Given the description of an element on the screen output the (x, y) to click on. 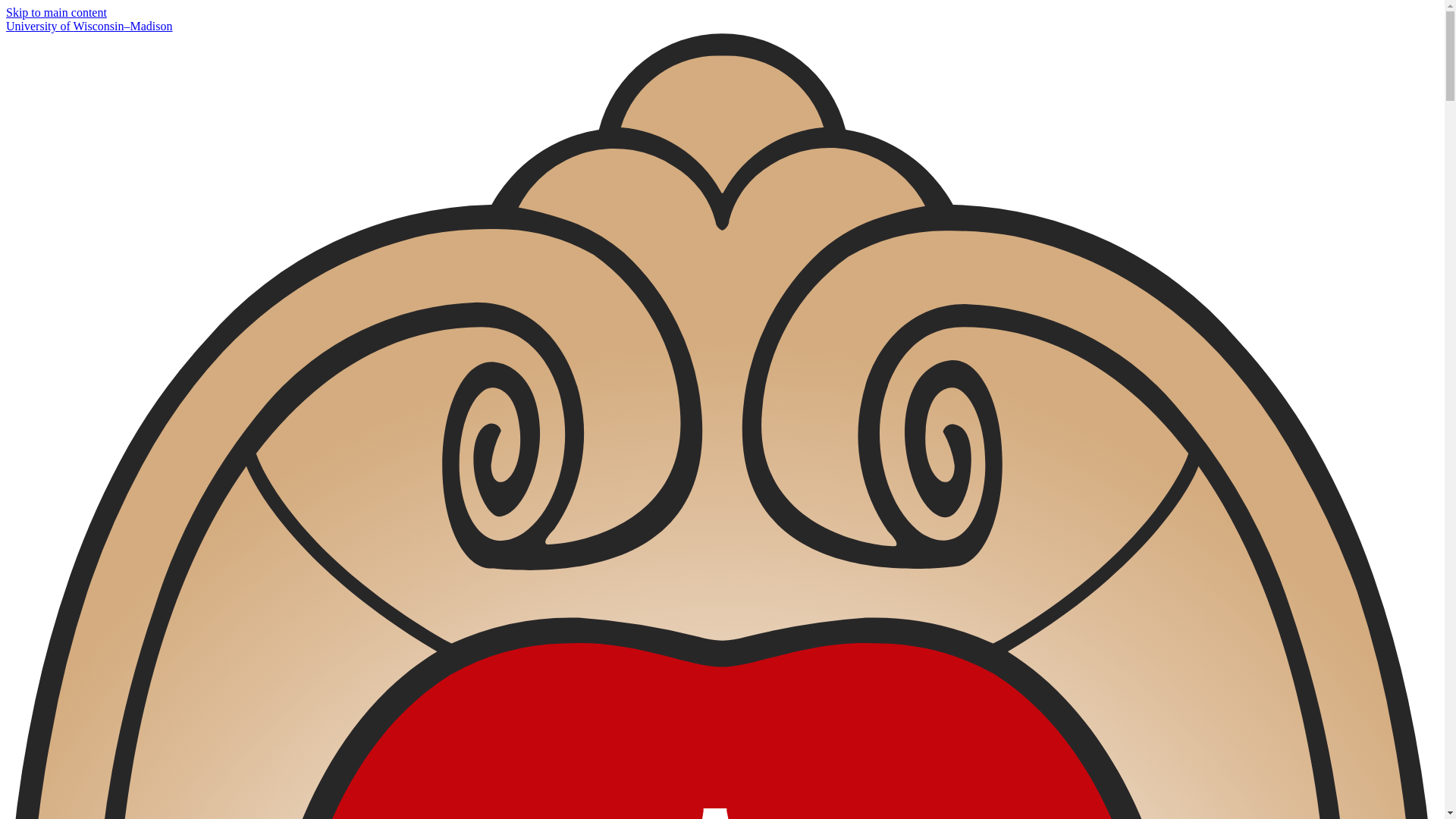
Skip to main content (55, 11)
